Given the description of an element on the screen output the (x, y) to click on. 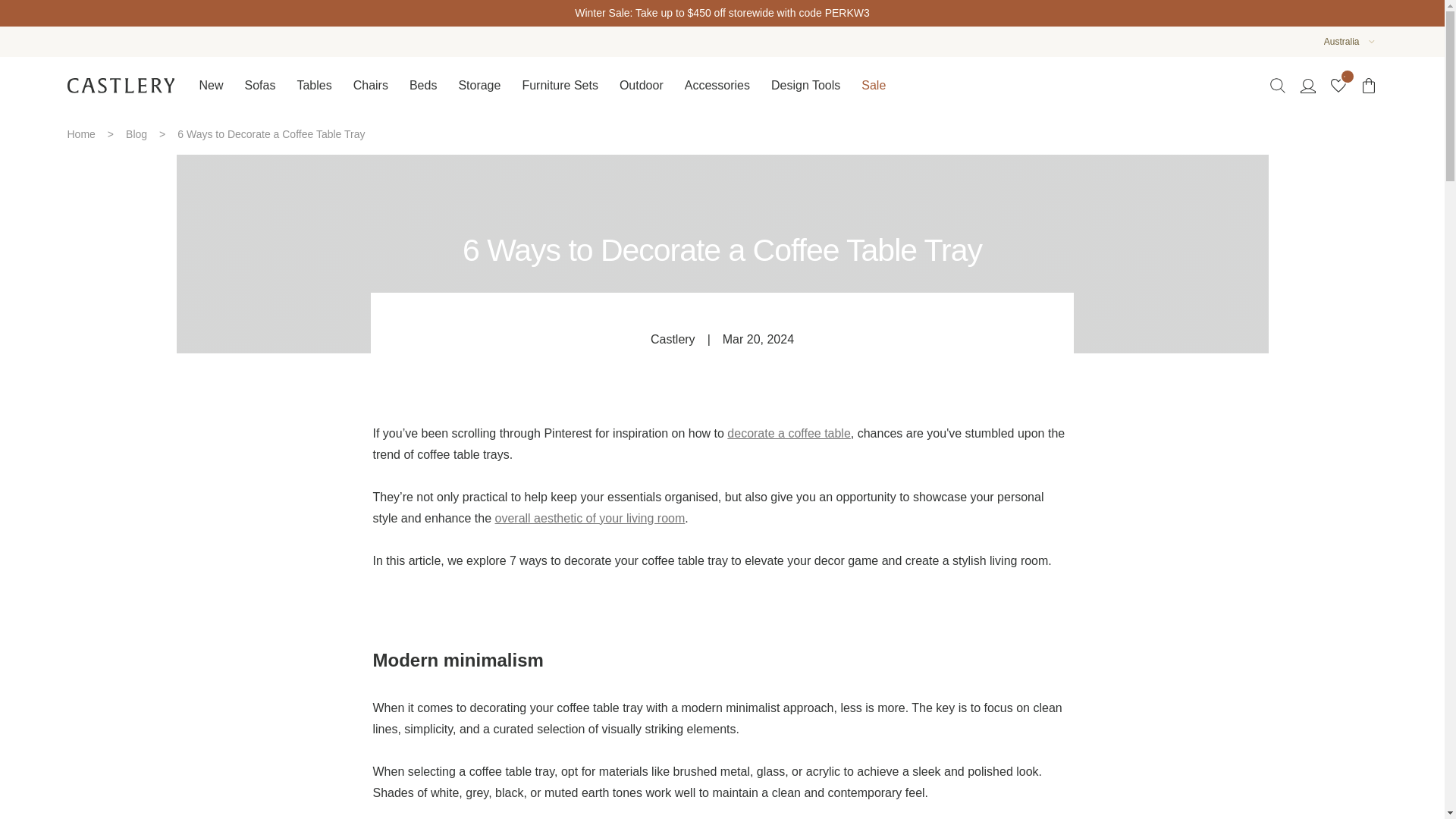
Tables (313, 85)
Australia (1341, 41)
Sofas (258, 85)
Chairs (370, 85)
